Given the description of an element on the screen output the (x, y) to click on. 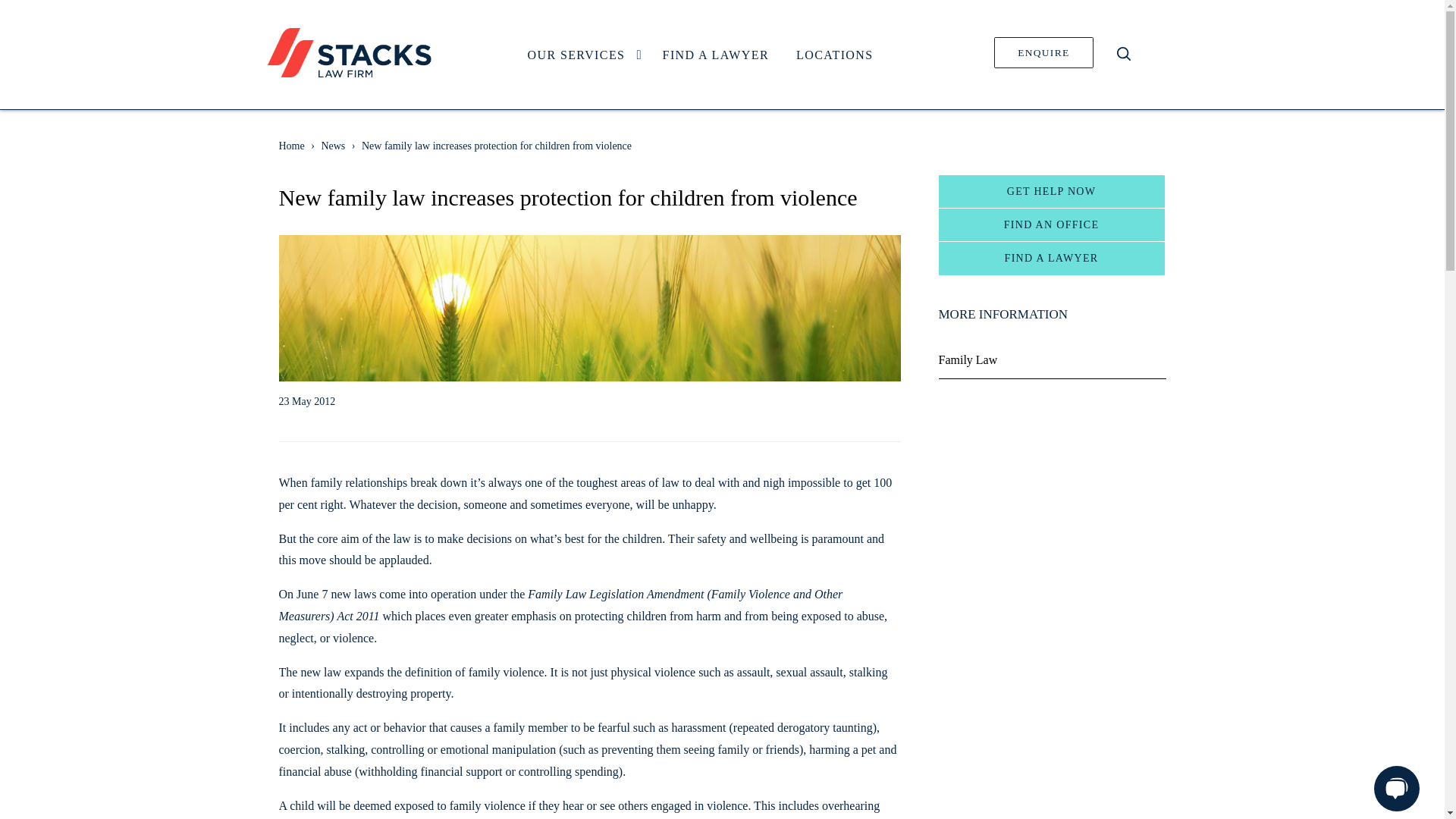
Home (291, 145)
FIND A LAWYER (716, 54)
Stacks Law Firm (699, 56)
LOCATIONS (348, 51)
ENQUIRE (834, 54)
OUR SERVICES (1043, 52)
News (581, 54)
